Given the description of an element on the screen output the (x, y) to click on. 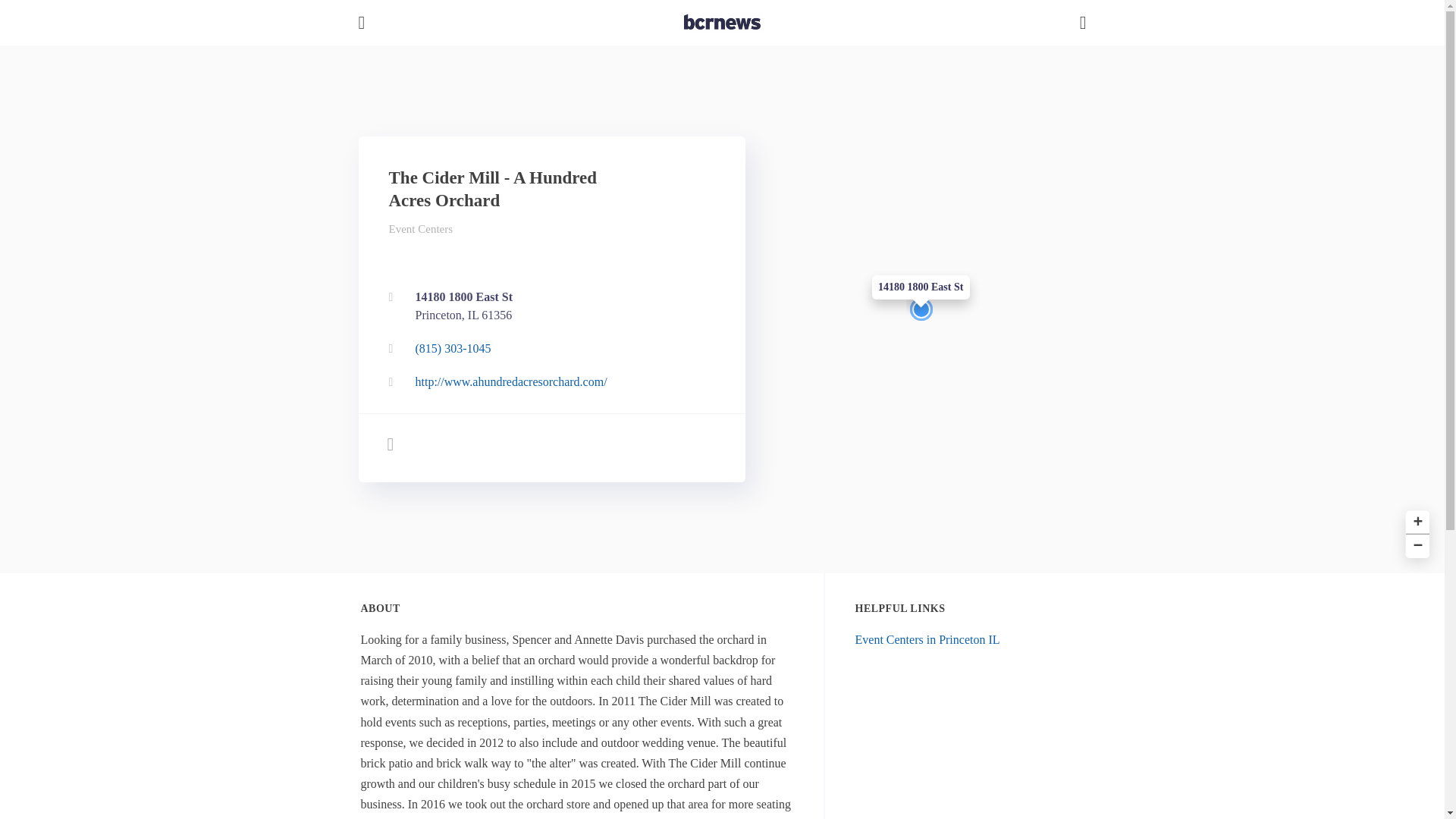
Get directions (547, 306)
Zoom out (1415, 544)
Event Centers (420, 228)
Call Phone Number (547, 348)
Open website in a new tab (547, 381)
Event Centers in Princeton IL (928, 639)
Zoom in (1415, 519)
